Given the description of an element on the screen output the (x, y) to click on. 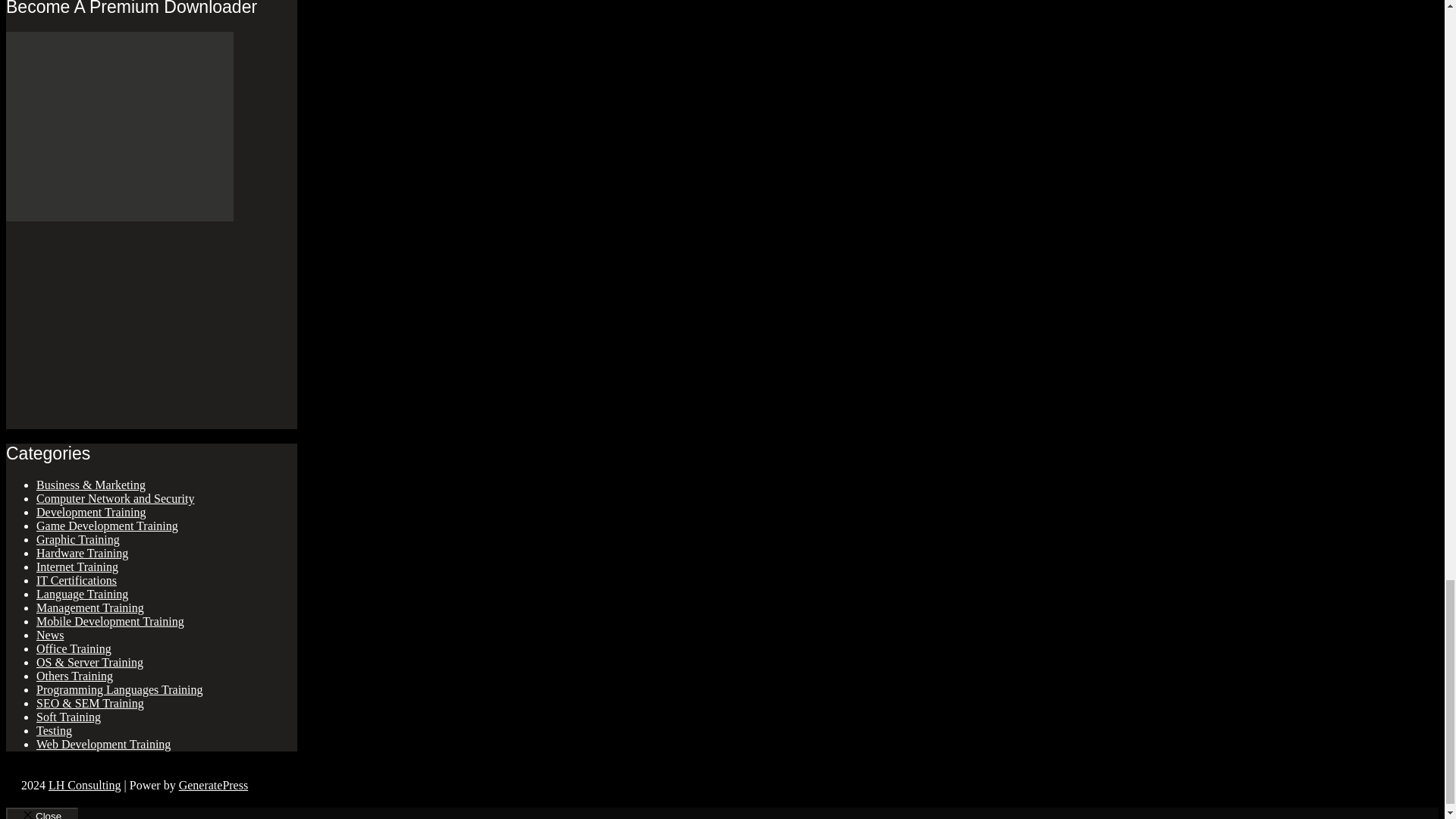
Internet Training (76, 566)
Programming Languages Training (119, 689)
Computer Network and Security (114, 498)
Soft Training (68, 716)
Development Training (90, 512)
Hardware Training (82, 553)
News (50, 634)
Language Training (82, 594)
Web Development Training (103, 744)
Office Training (74, 648)
